Given the description of an element on the screen output the (x, y) to click on. 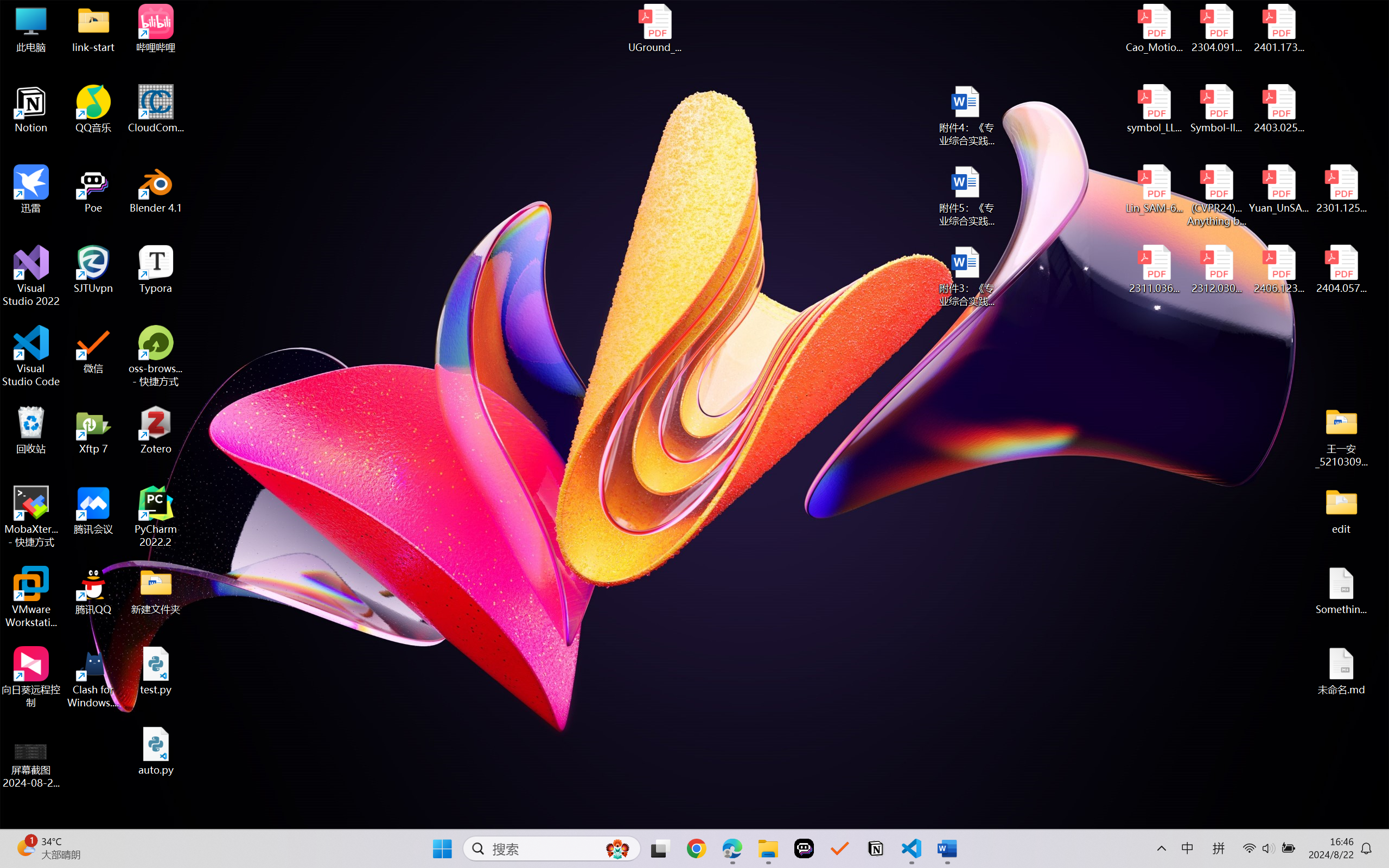
symbol_LLM.pdf (1154, 109)
Xftp 7 (93, 430)
UGround_paper.pdf (654, 28)
Visual Studio 2022 (31, 276)
Google Chrome (696, 848)
